Given the description of an element on the screen output the (x, y) to click on. 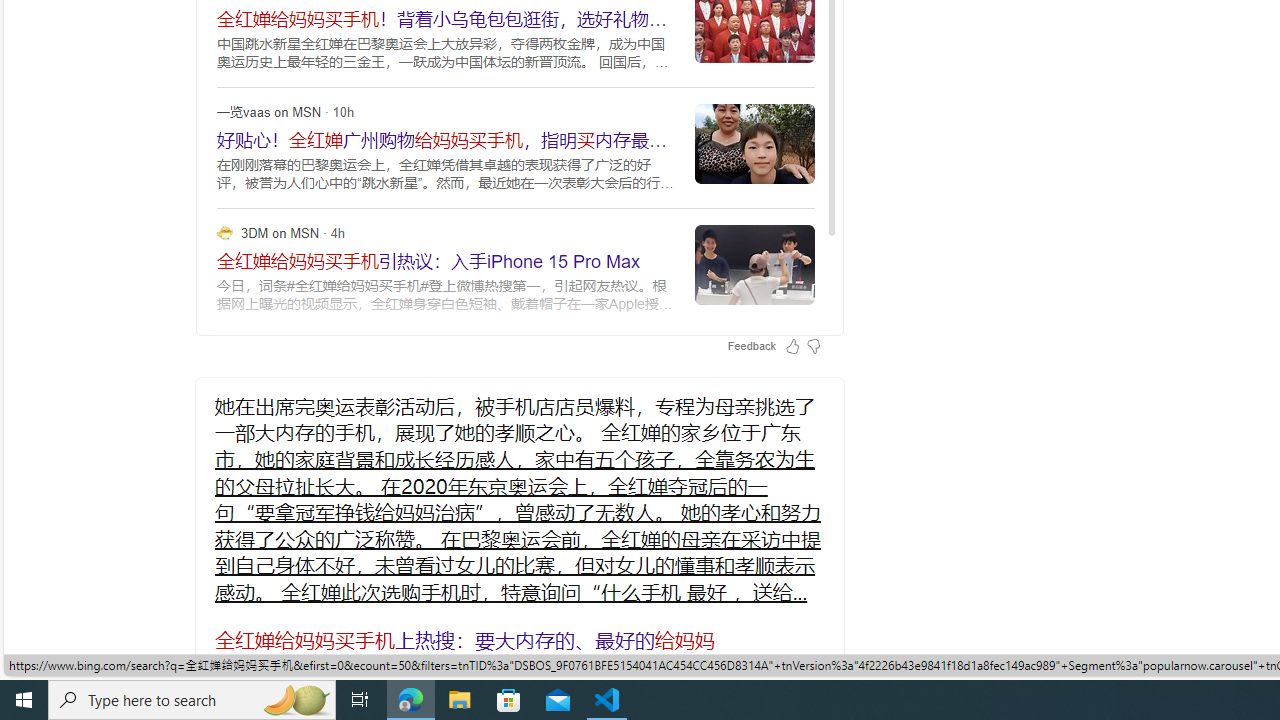
www.chinaz.com/2024/0822/1637603.shtml (222, 664)
3DM on MSN (224, 232)
Feedback Dislike (813, 345)
Feedback Like (792, 345)
